Given the description of an element on the screen output the (x, y) to click on. 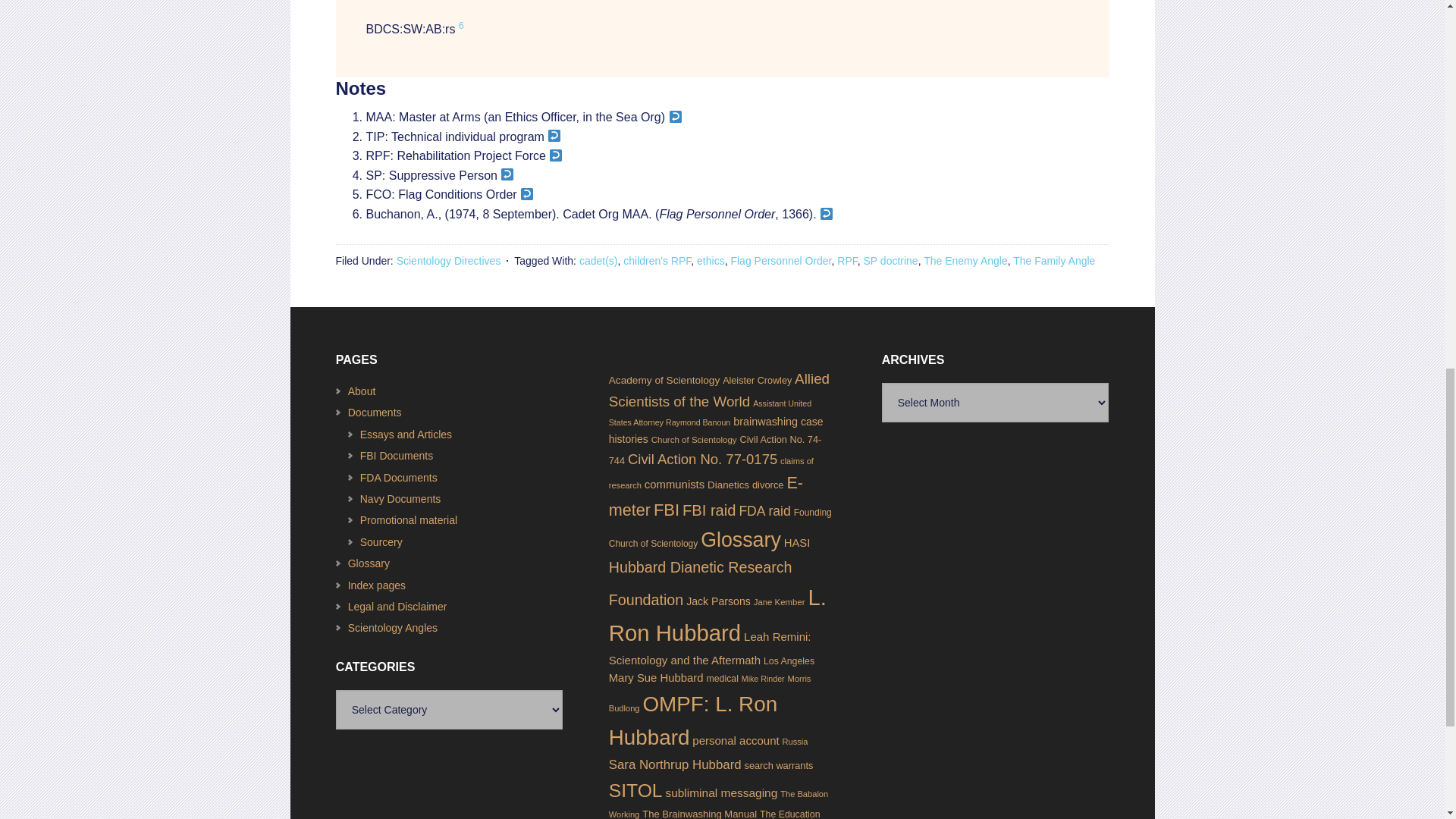
Documents (374, 412)
The Enemy Angle (965, 260)
The Family Angle (1053, 260)
About (361, 390)
SP doctrine (890, 260)
Essays and Articles (405, 434)
RPF (847, 260)
Scientology Directives (448, 260)
children's RPF (656, 260)
Flag Personnel Order (780, 260)
